Given the description of an element on the screen output the (x, y) to click on. 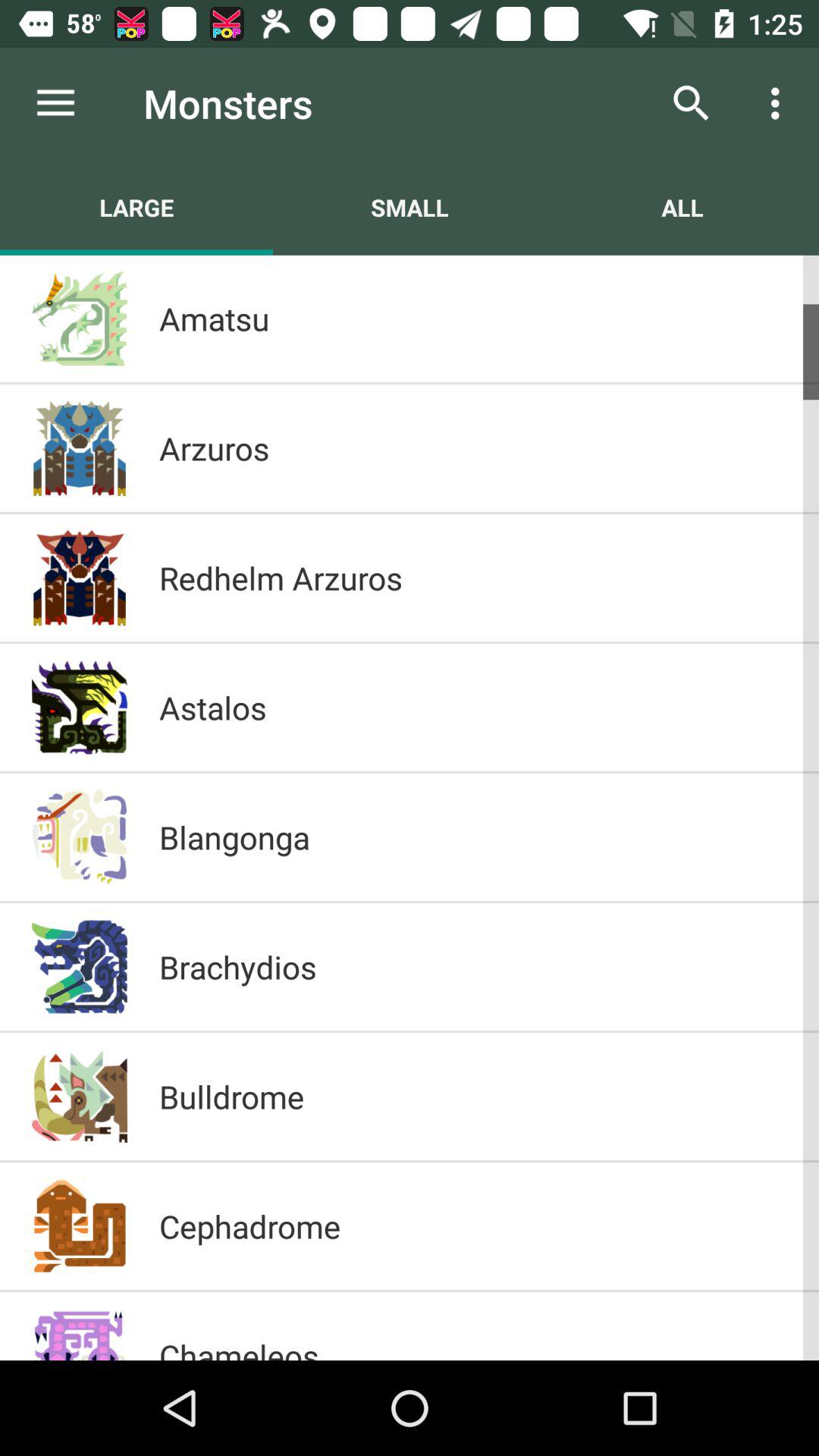
click the item above the cephadrome icon (473, 1096)
